Given the description of an element on the screen output the (x, y) to click on. 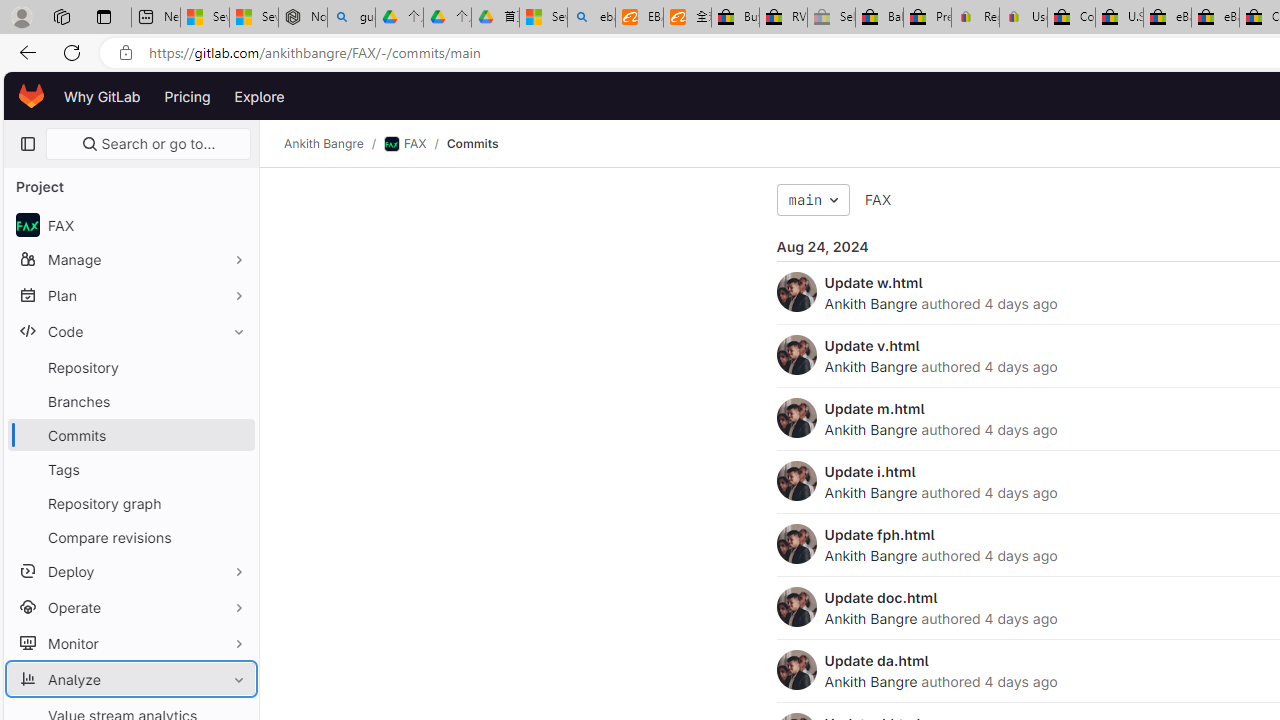
Analyze (130, 678)
Commits (472, 143)
Primary navigation sidebar (27, 143)
Monitor (130, 642)
Tags (130, 468)
Operate (130, 606)
avatar FAX (130, 224)
Sell worldwide with eBay - Sleeping (831, 17)
Branches (130, 400)
Ankith Bangre's avatar (795, 669)
FAX/ (414, 143)
Compare revisions (130, 536)
